Given the description of an element on the screen output the (x, y) to click on. 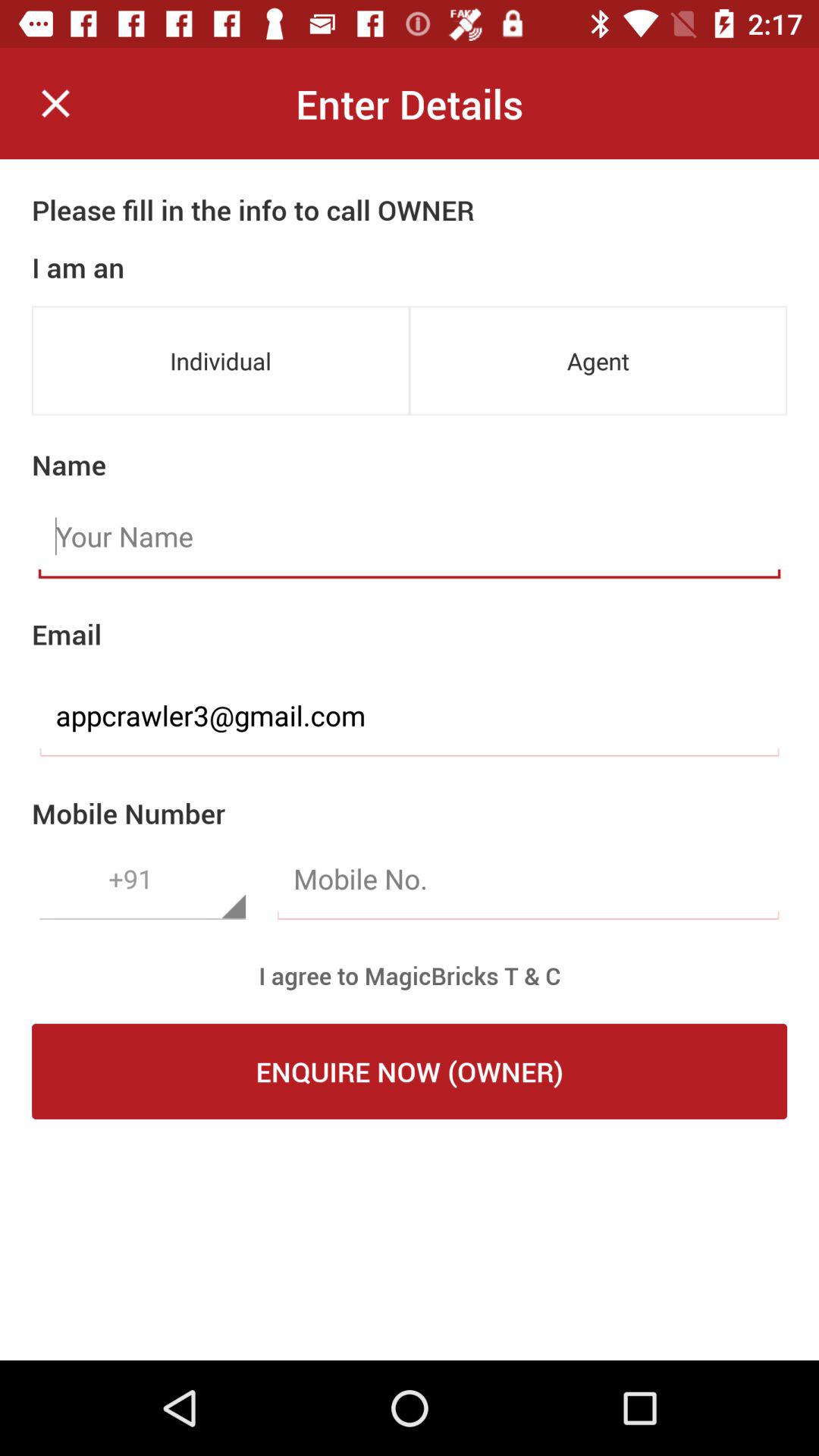
open appcrawler3@gmail.com item (409, 716)
